Given the description of an element on the screen output the (x, y) to click on. 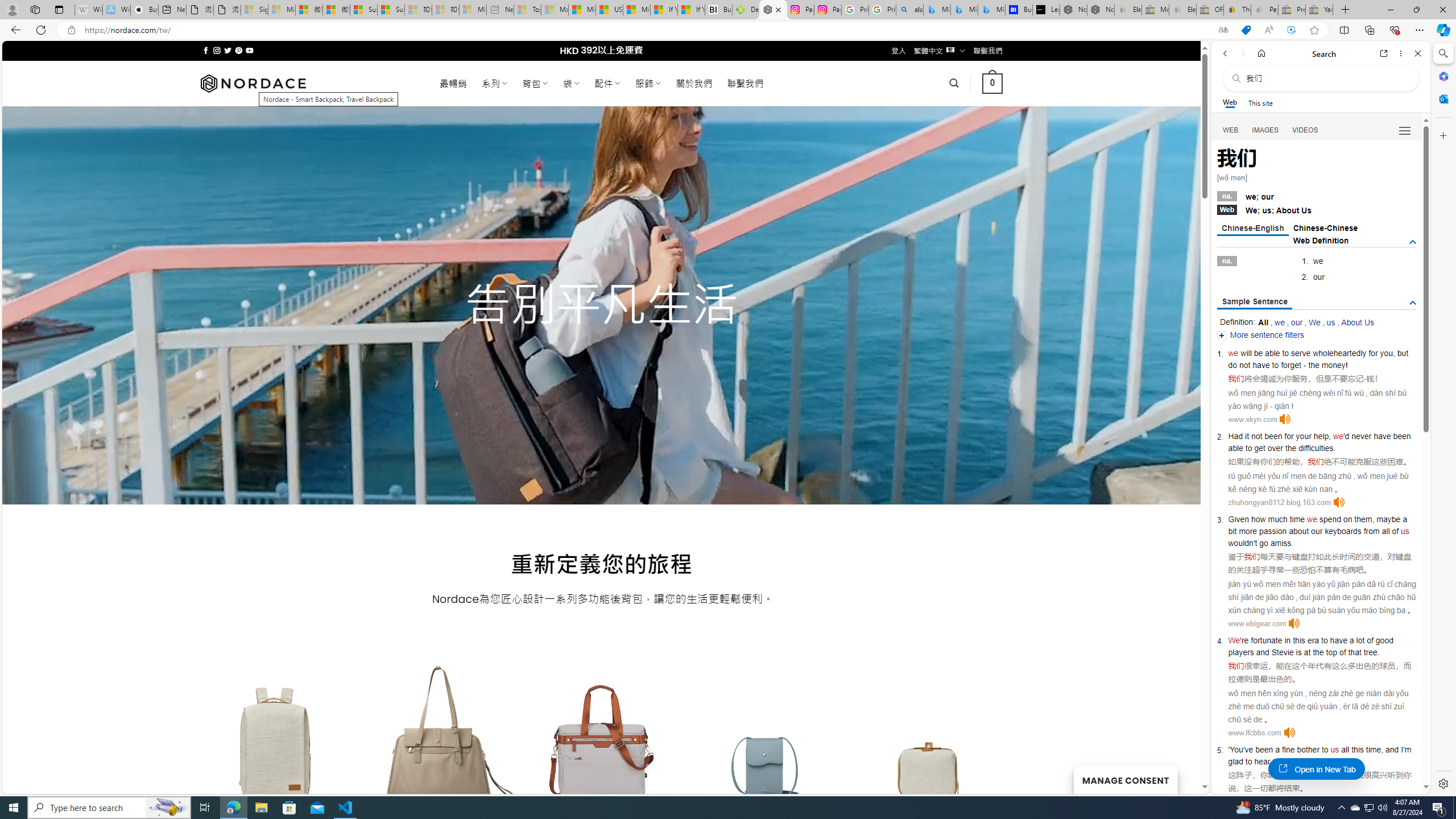
Marine life - MSN - Sleeping (554, 9)
' (1228, 749)
